Given the description of an element on the screen output the (x, y) to click on. 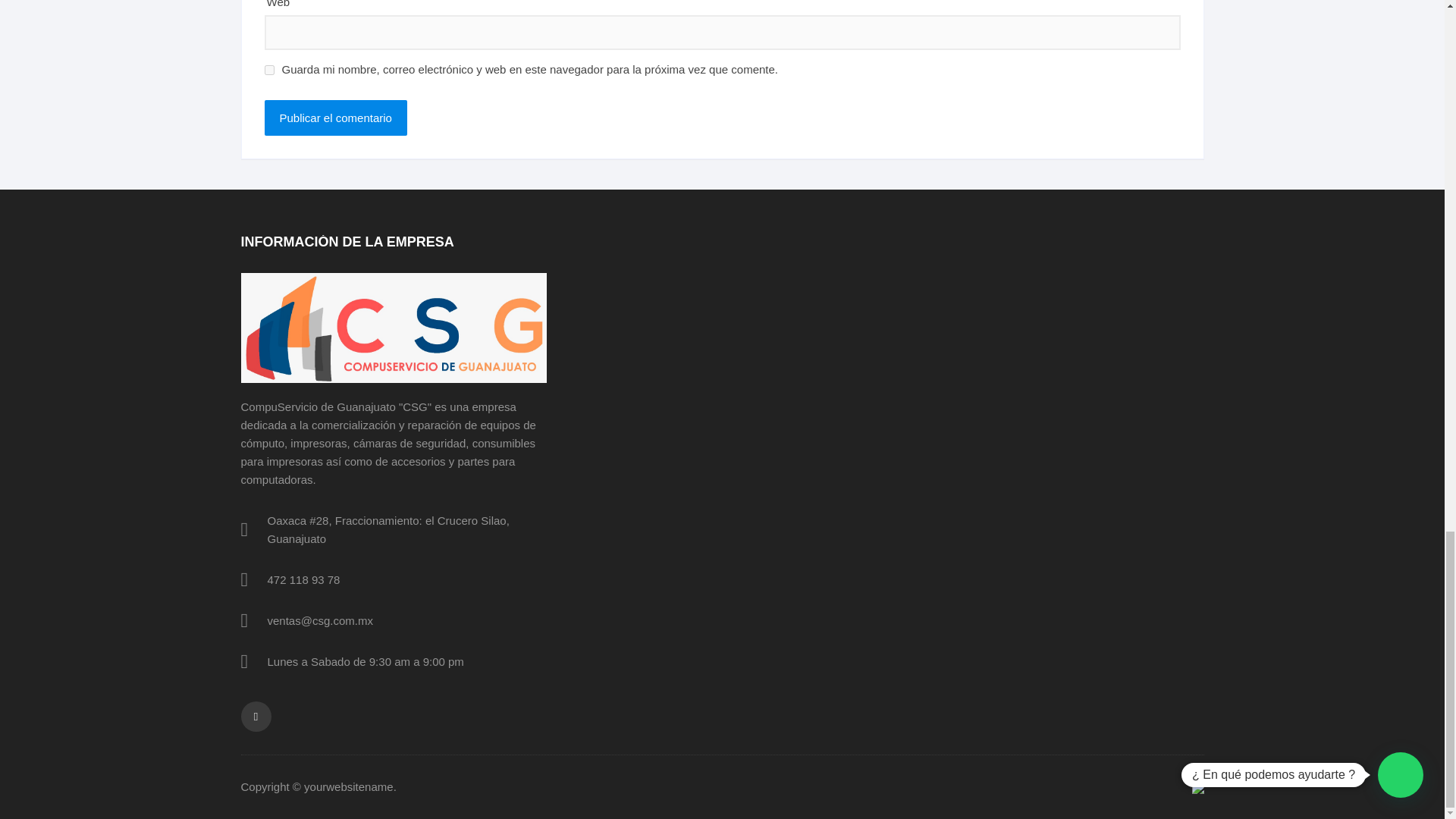
yes (268, 70)
Publicar el comentario (334, 117)
Publicar el comentario (334, 117)
